Given the description of an element on the screen output the (x, y) to click on. 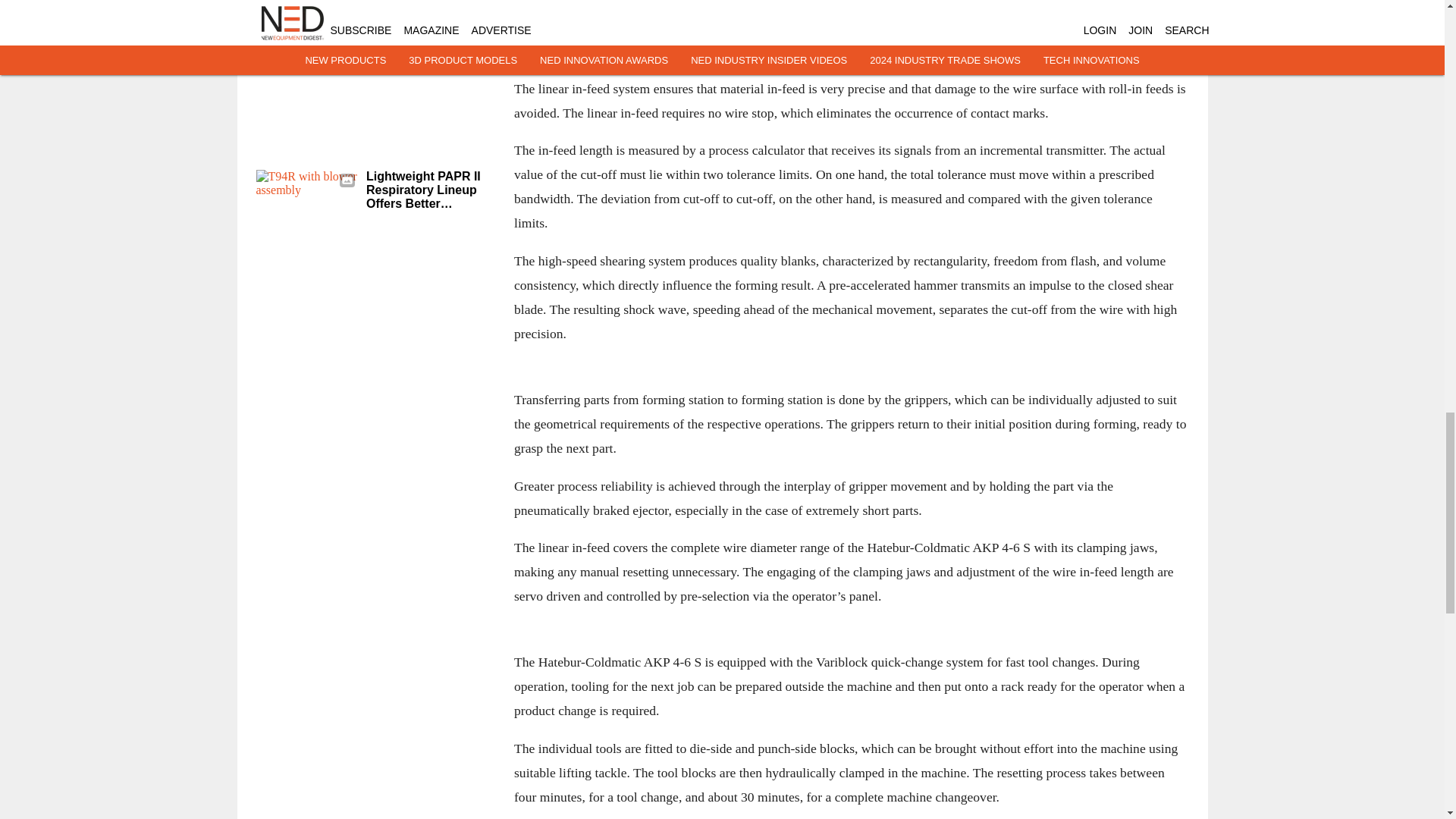
T94R with blower assembly (307, 197)
